Given the description of an element on the screen output the (x, y) to click on. 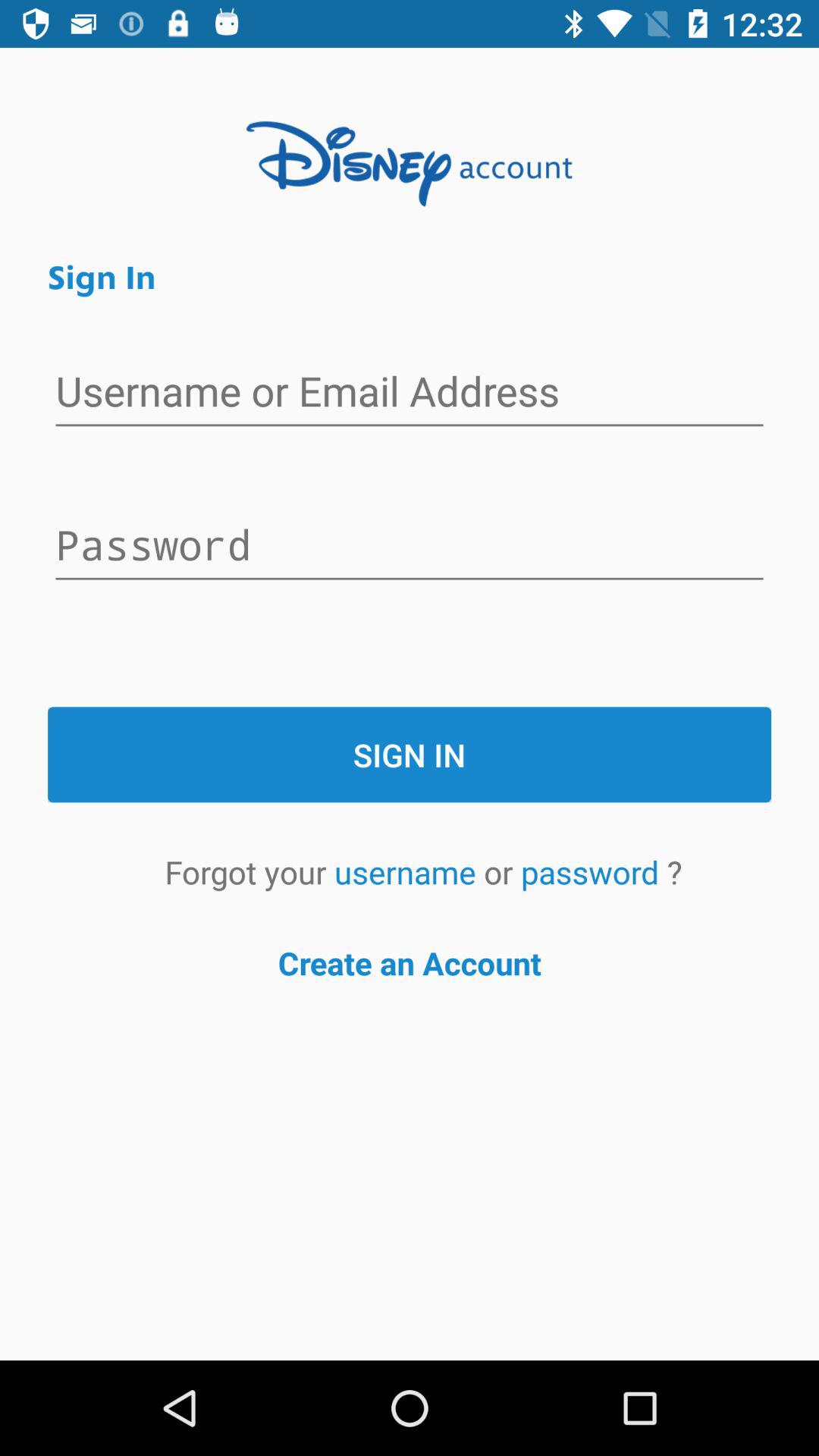
turn on icon below sign in icon (409, 393)
